Given the description of an element on the screen output the (x, y) to click on. 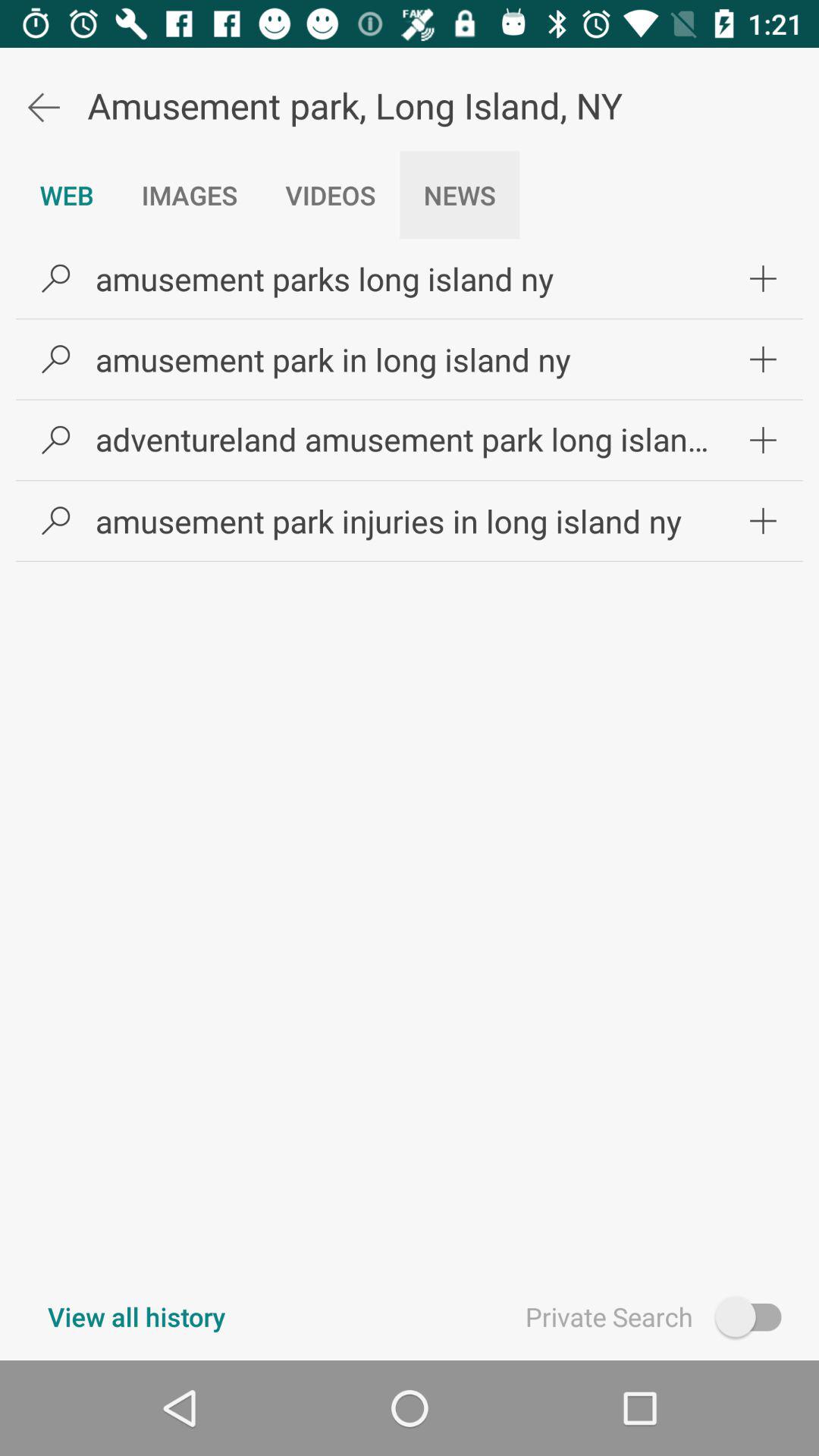
click item to the left of private search item (136, 1316)
